Given the description of an element on the screen output the (x, y) to click on. 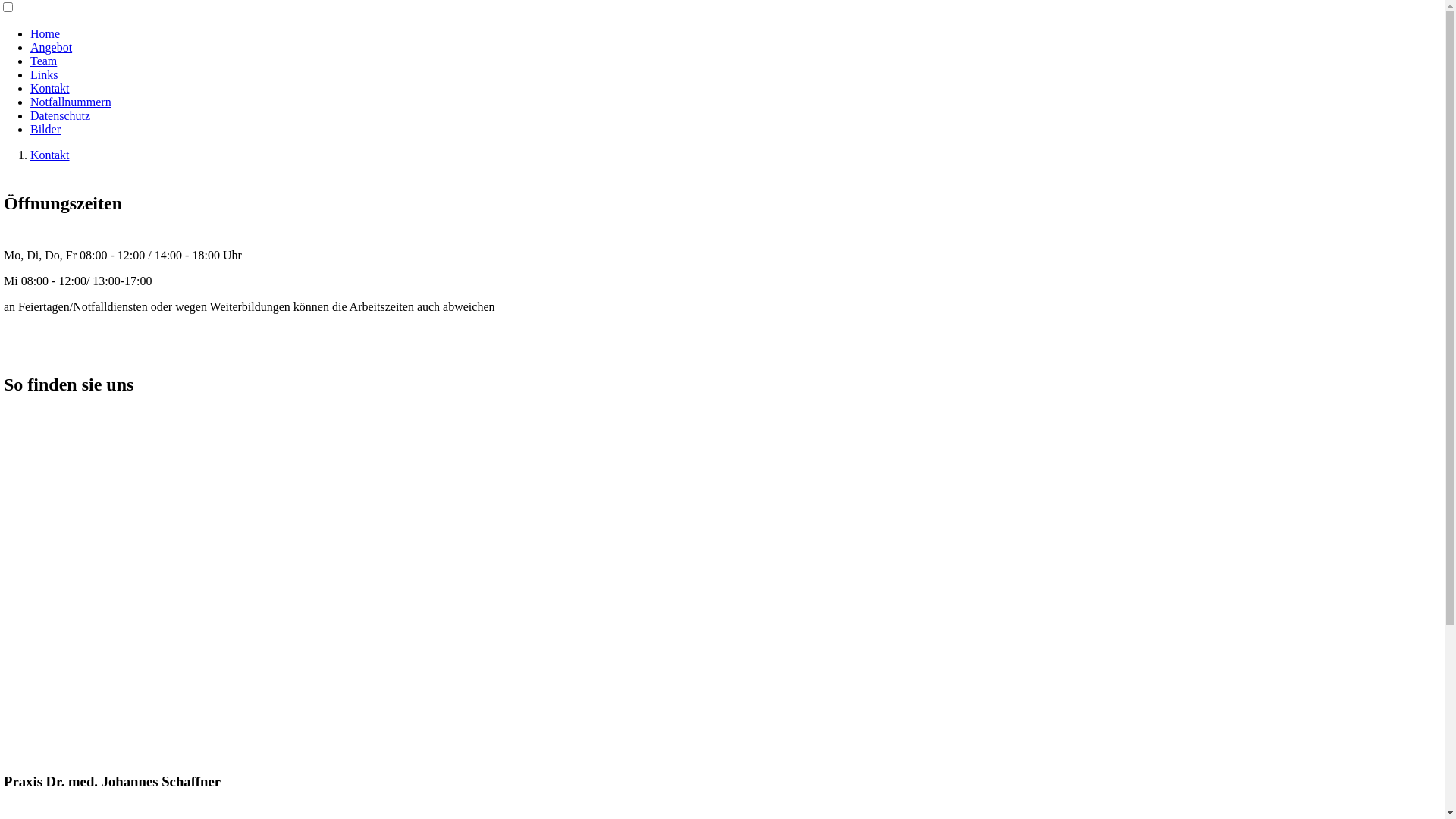
Links Element type: text (43, 74)
Kontakt Element type: text (49, 87)
Datenschutz Element type: text (60, 115)
Home Element type: text (44, 33)
Bilder Element type: text (45, 128)
Angebot Element type: text (51, 46)
Team Element type: text (43, 60)
Notfallnummern Element type: text (70, 101)
Kontakt Element type: text (49, 154)
